Given the description of an element on the screen output the (x, y) to click on. 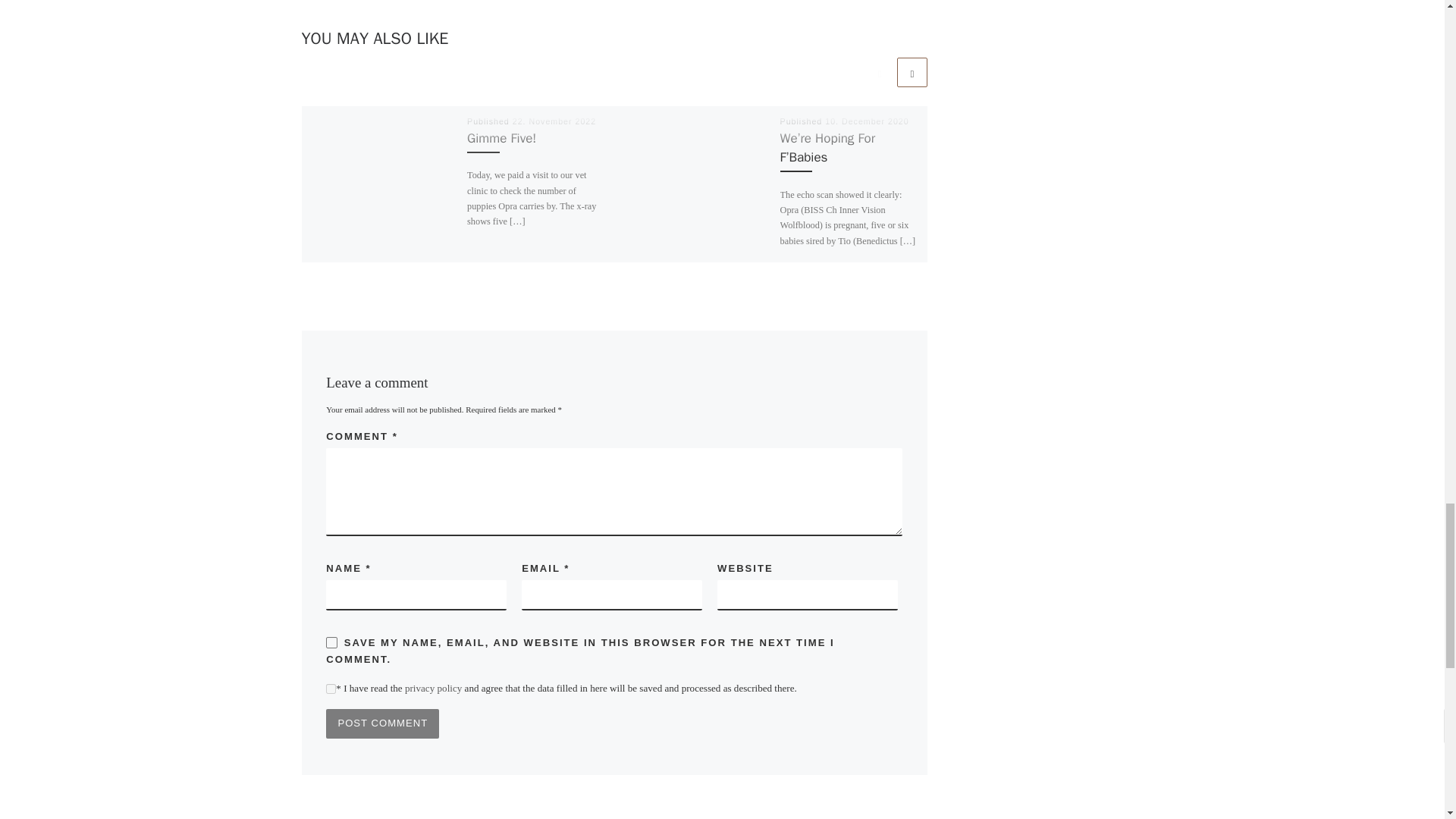
yes (331, 642)
privacy-key (331, 688)
Post Comment (382, 723)
